Given the description of an element on the screen output the (x, y) to click on. 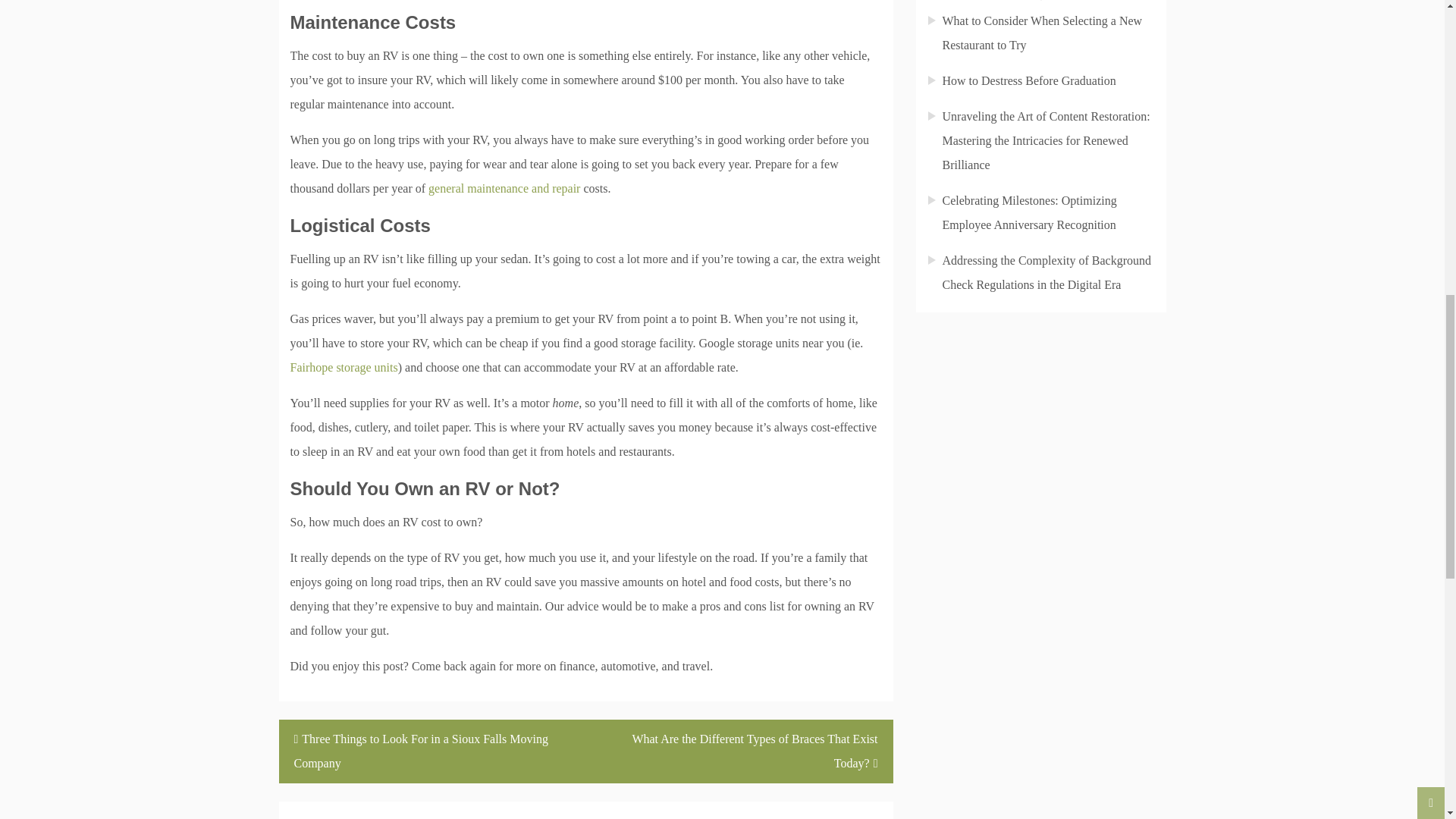
general maintenance and repair (503, 187)
What to Consider When Selecting a New Restaurant to Try (1041, 32)
Three Things to Look For in a Sioux Falls Moving Company (432, 750)
How to Destress Before Graduation (1028, 80)
What Are the Different Types of Braces That Exist Today? (738, 750)
Fairhope storage units (343, 367)
